Given the description of an element on the screen output the (x, y) to click on. 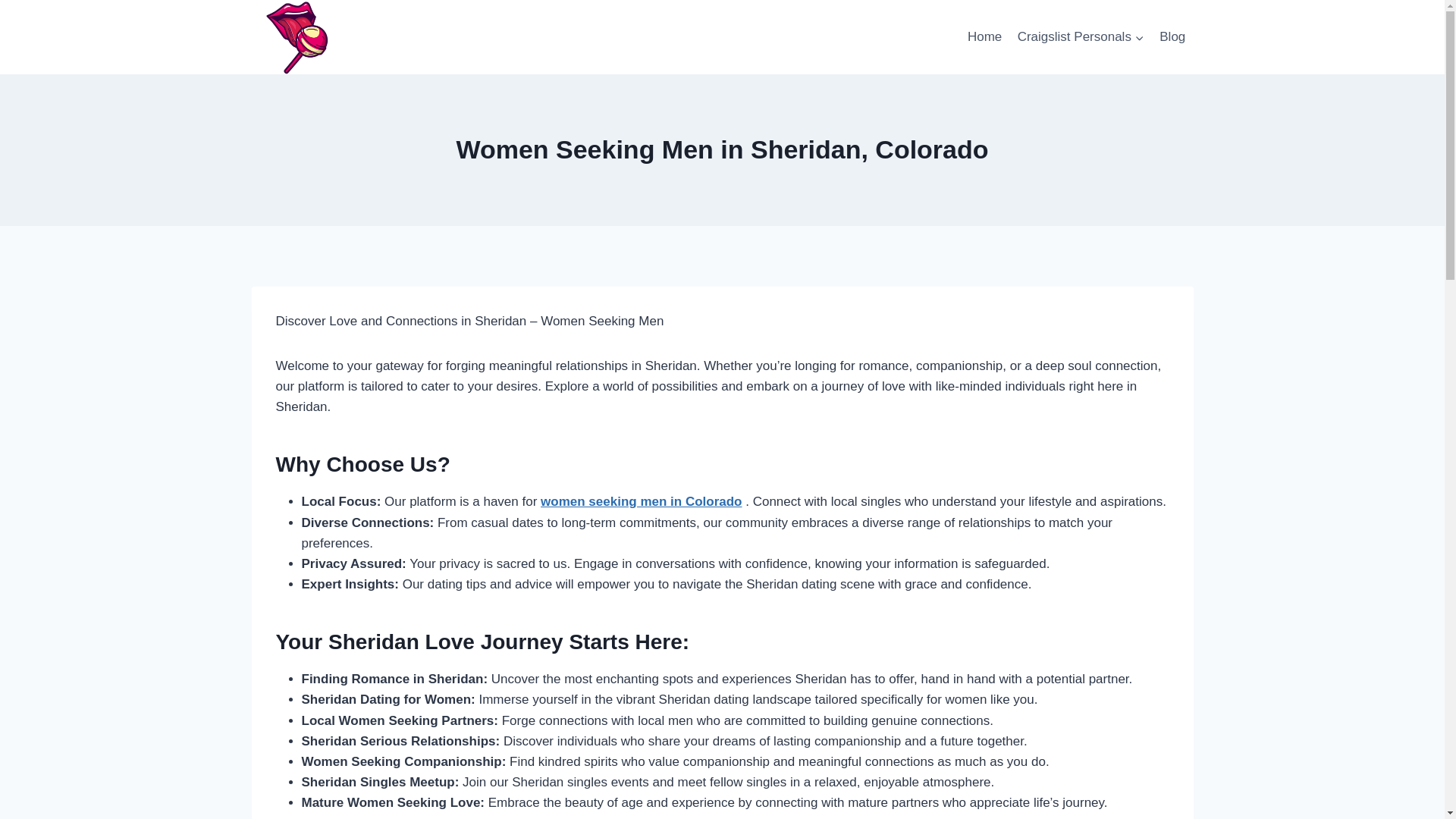
women seeking men in Colorado (640, 501)
Home (984, 36)
Blog (1171, 36)
Craigslist Personals (1080, 36)
